Given the description of an element on the screen output the (x, y) to click on. 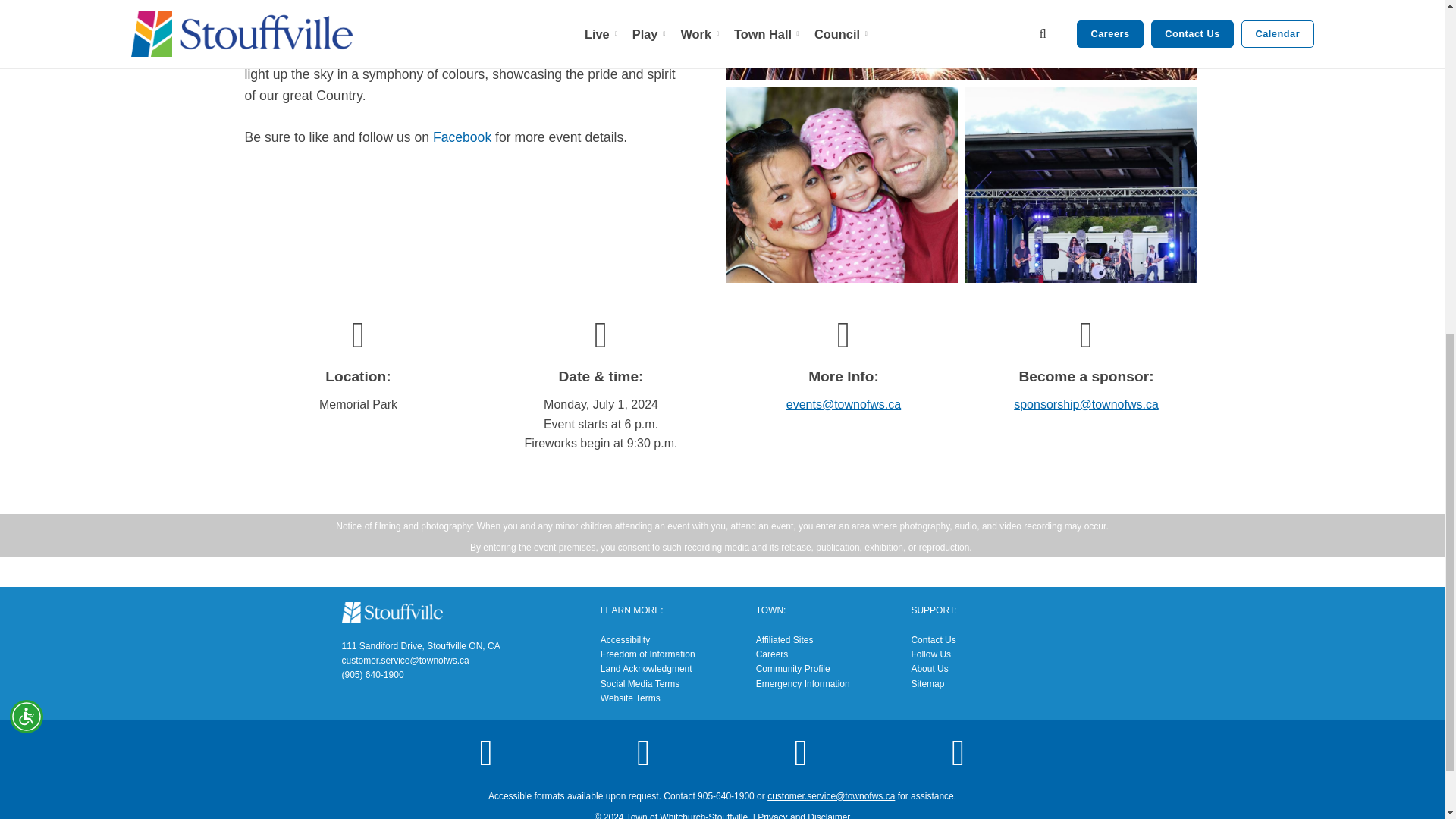
Accessibility Menu (26, 109)
